Given the description of an element on the screen output the (x, y) to click on. 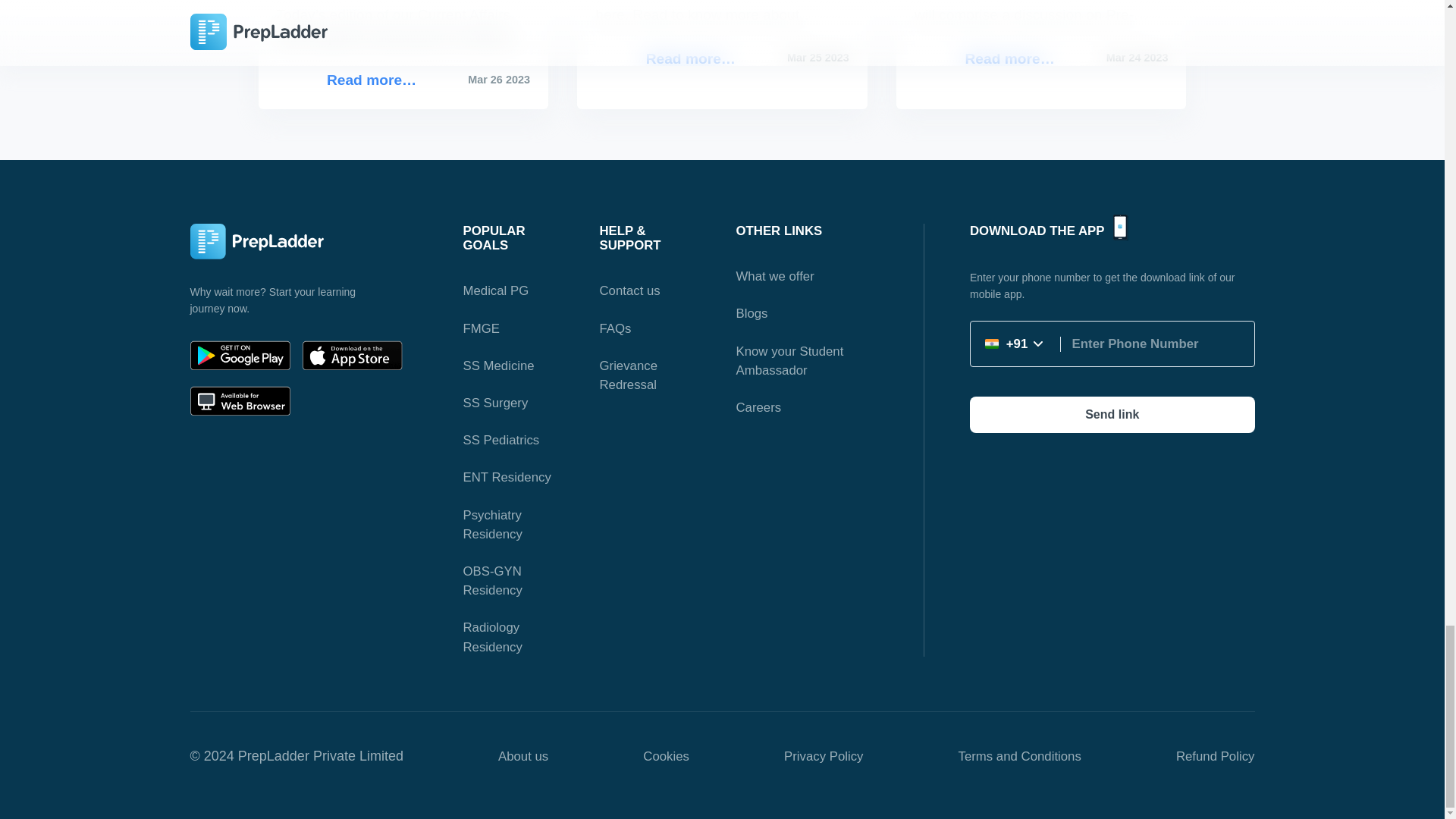
Know your Student Ambassador (789, 360)
What do Waste-to-Energy Projects Do? (371, 79)
SS Medicine (498, 365)
Grievance Redressal (627, 375)
What we offer (774, 276)
Read more about Abolition of the Death Penalty (691, 58)
FMGE (481, 328)
All About the Pre-Arrest Bail (1041, 23)
What do Waste-to-Energy Projects Do? (402, 34)
SS Surgery (495, 402)
Blogs (751, 313)
SS Pediatrics (500, 440)
Abolition of the Death Penalty (721, 23)
Careers (757, 407)
